Given the description of an element on the screen output the (x, y) to click on. 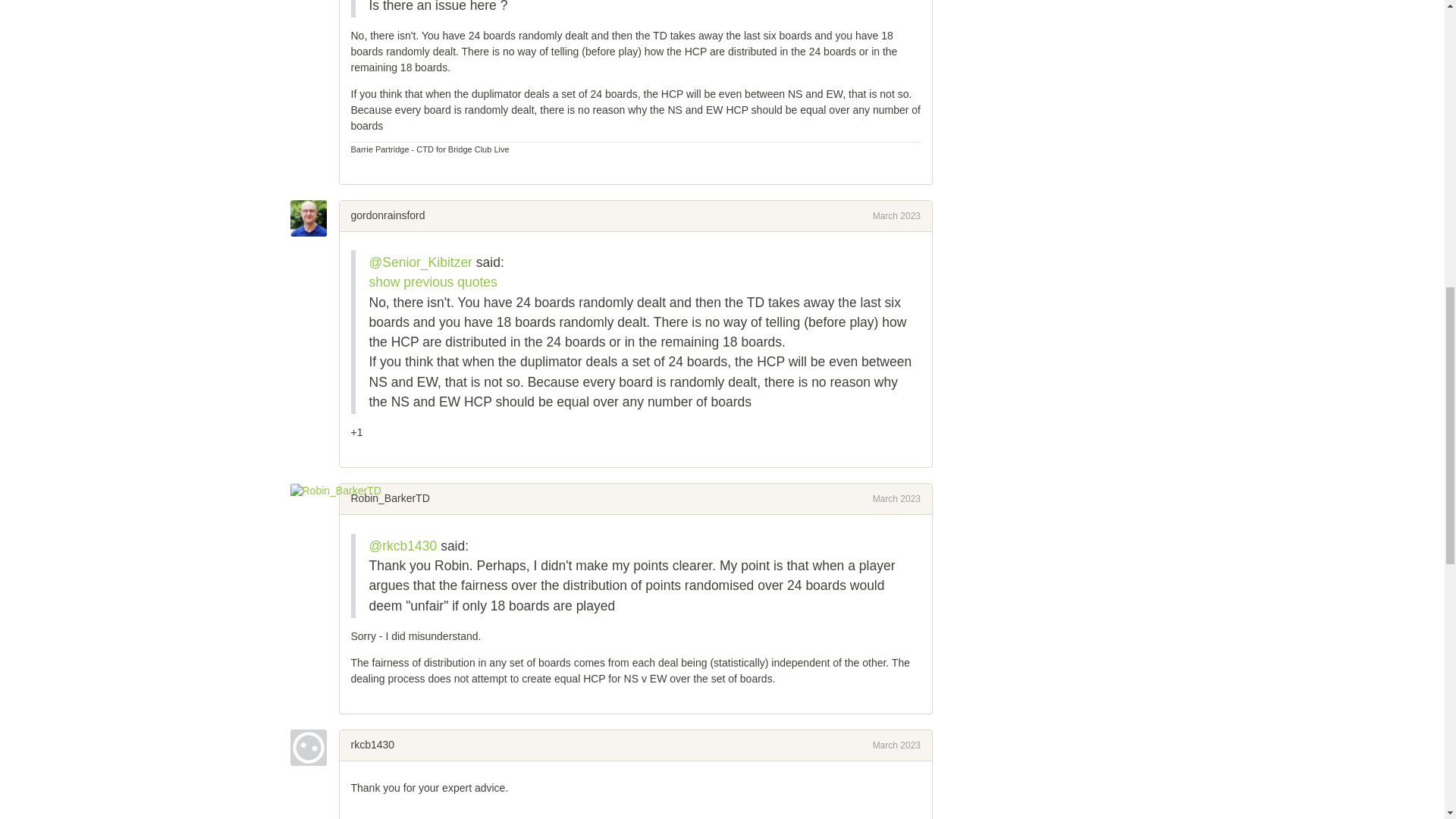
March 11, 2023 12:30PM (896, 745)
March 2023 (896, 498)
gordonrainsford (313, 217)
gordonrainsford (387, 215)
rkcb1430 (313, 747)
March 9, 2023 7:24PM (896, 498)
March 9, 2023 9:00AM (896, 215)
rkcb1430 (372, 744)
March 2023 (896, 215)
show previous quotes (432, 281)
